Given the description of an element on the screen output the (x, y) to click on. 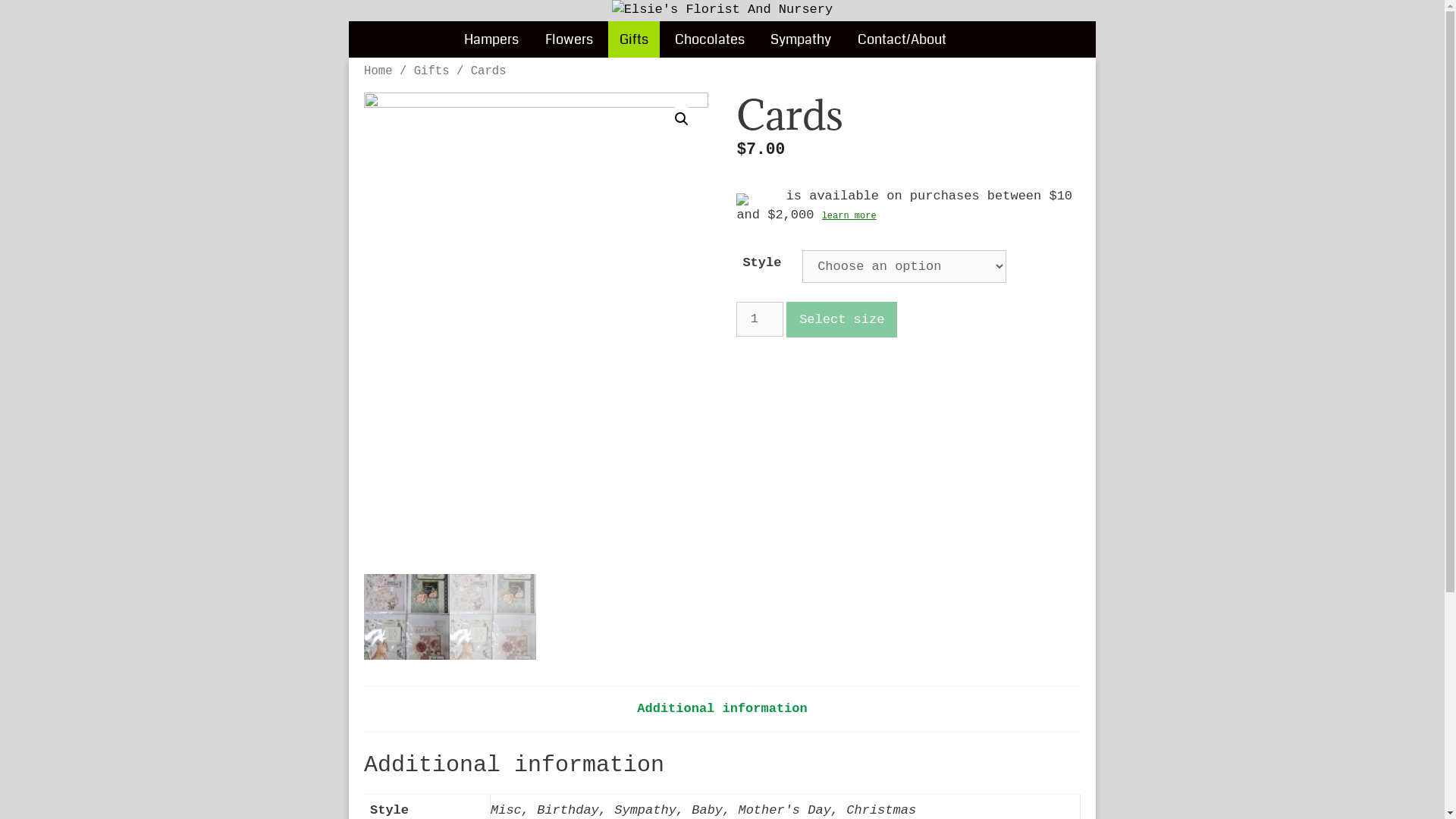
Select size Element type: text (841, 319)
20230531_142548 Element type: hover (536, 333)
Flowers Element type: text (568, 39)
View your shopping cart Element type: hover (976, 39)
Gifts Element type: text (431, 71)
Hampers Element type: text (491, 39)
Sympathy Element type: text (800, 39)
Home Element type: text (378, 71)
Contact/About Element type: text (901, 39)
Gifts Element type: text (633, 39)
learn more Element type: text (849, 215)
Elsie's Florist And Nursery Element type: hover (721, 9)
Chocolates Element type: text (708, 39)
Additional information Element type: text (721, 708)
Elsie's Florist And Nursery Element type: hover (721, 9)
